Given the description of an element on the screen output the (x, y) to click on. 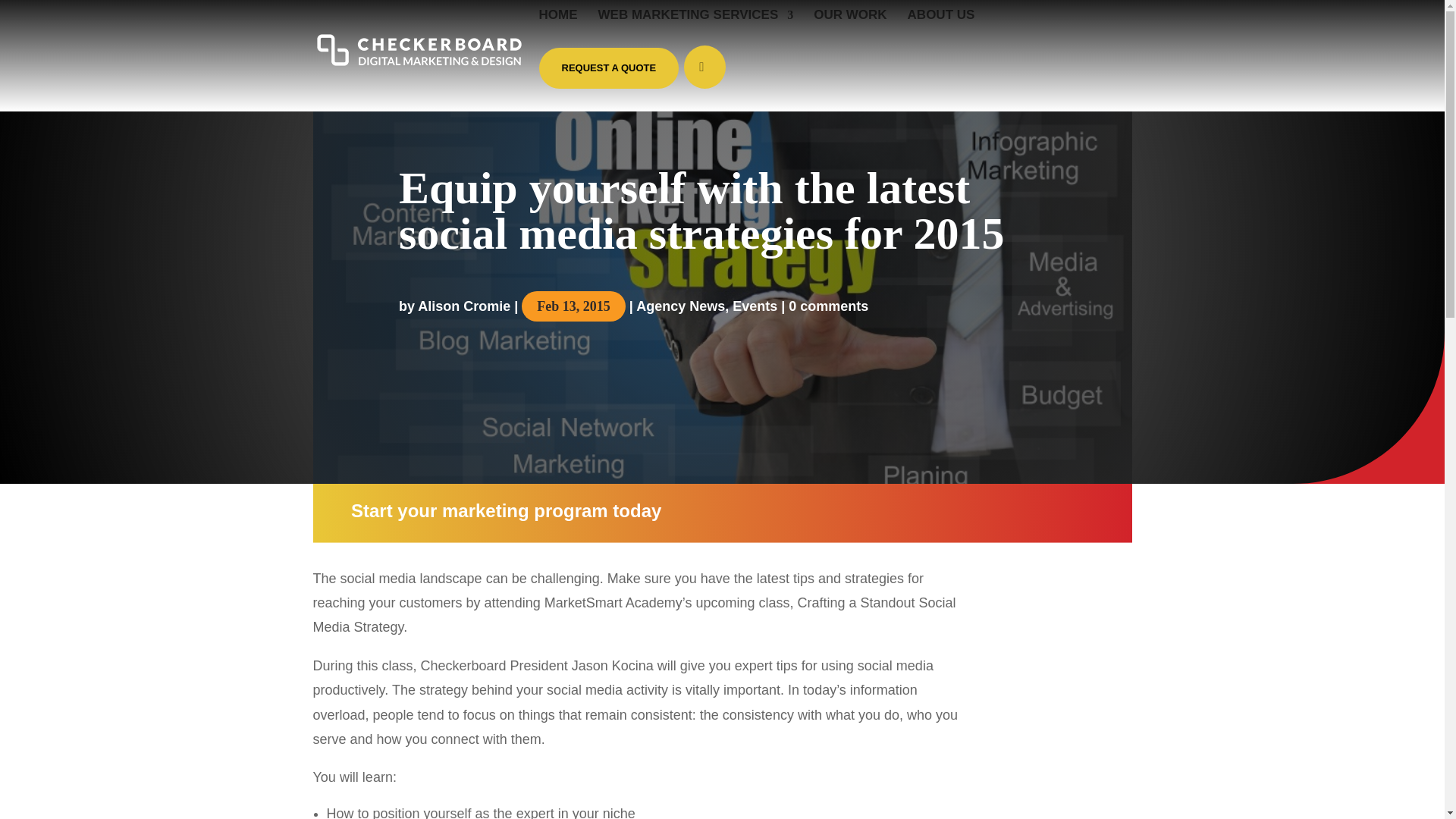
WEB MARKETING SERVICES (695, 27)
Alison Cromie (464, 305)
ABOUT US (941, 27)
Agency News (680, 305)
Events (754, 305)
HOME (557, 27)
Follow Us On Facebook (704, 66)
Posts by Alison Cromie (464, 305)
Start your marketing program today (505, 510)
OUR WORK (849, 27)
0 comments (828, 305)
REQUEST A QUOTE (608, 67)
